Given the description of an element on the screen output the (x, y) to click on. 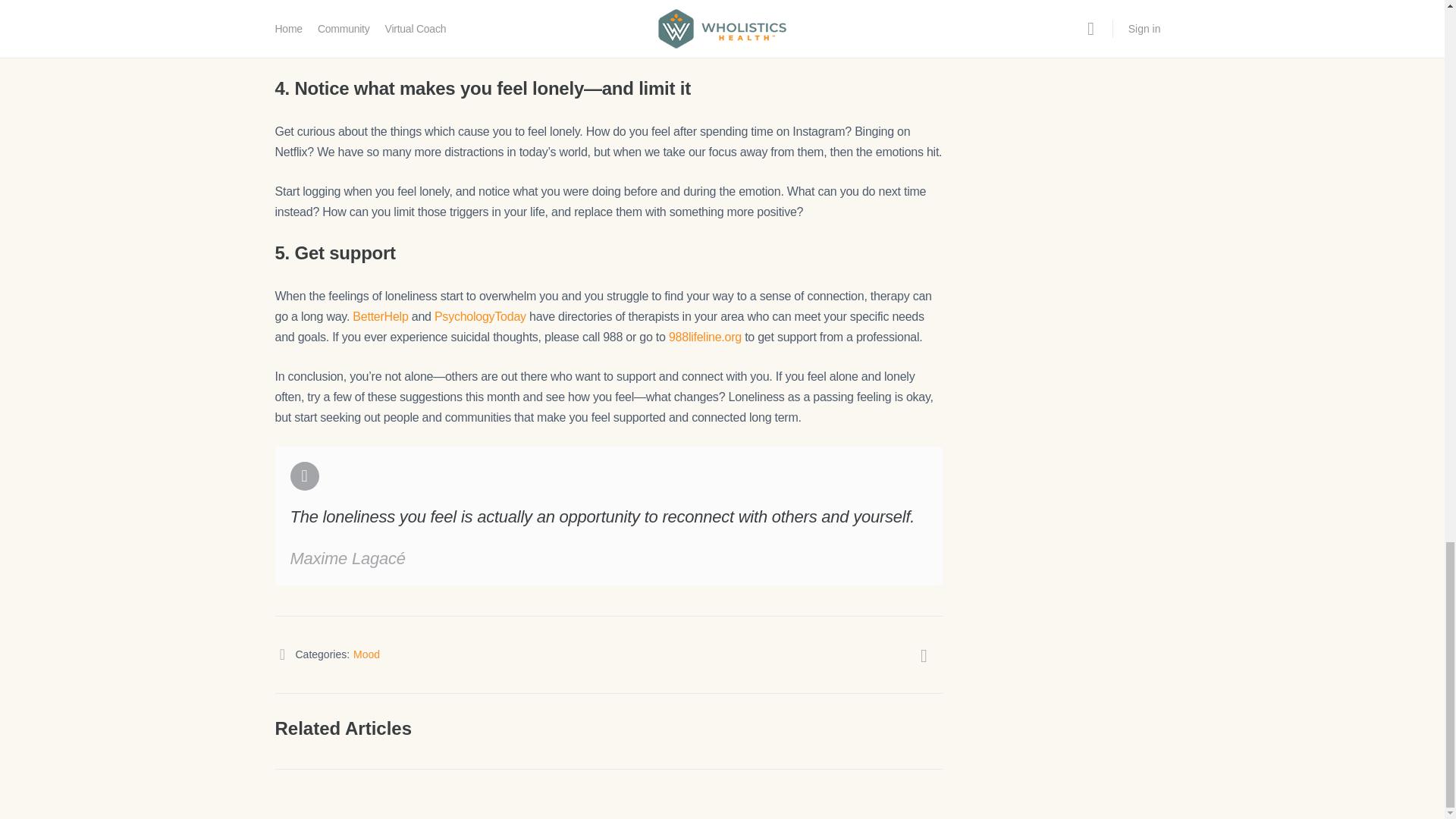
988lifeline.org (704, 336)
PsychologyToday (479, 316)
BetterHelp (379, 316)
Mood (366, 654)
found (849, 26)
